Given the description of an element on the screen output the (x, y) to click on. 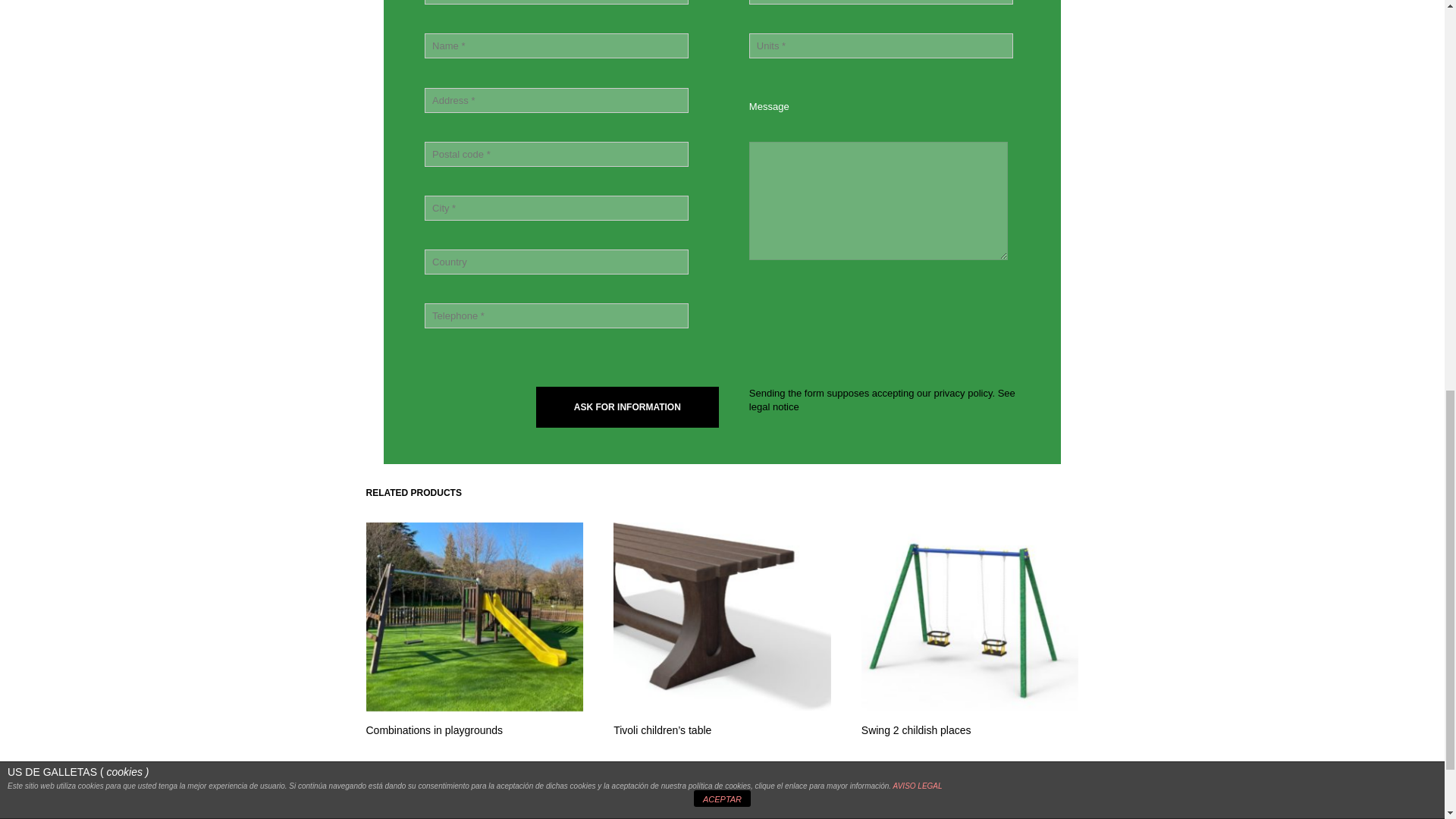
Ask for information (627, 406)
